Given the description of an element on the screen output the (x, y) to click on. 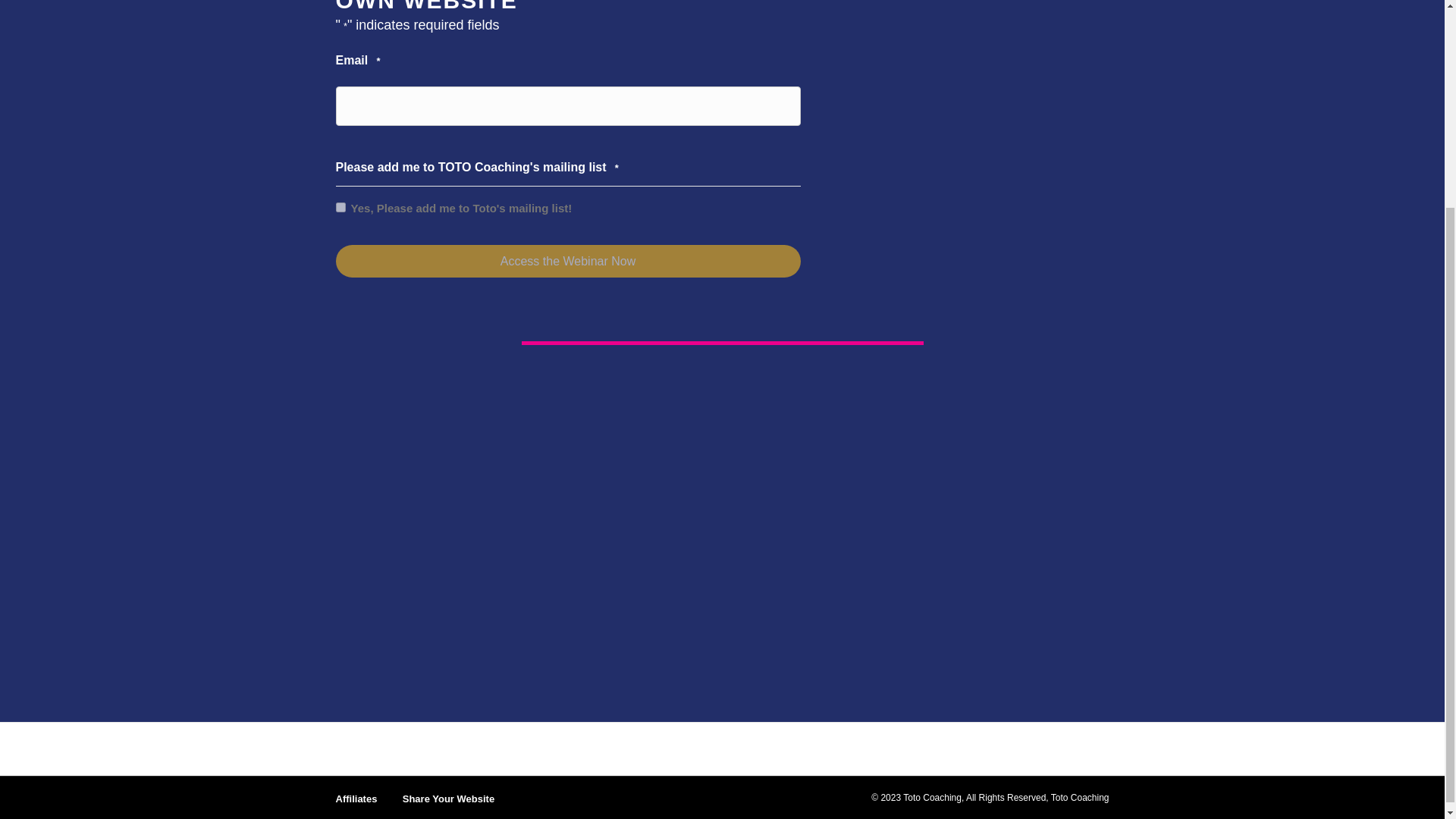
Share Your Website (448, 804)
Yes, Please add me to Toto's mailing list! (339, 207)
Access the Webinar Now (566, 260)
Affiliates (356, 804)
Access the Webinar Now (566, 260)
